Given the description of an element on the screen output the (x, y) to click on. 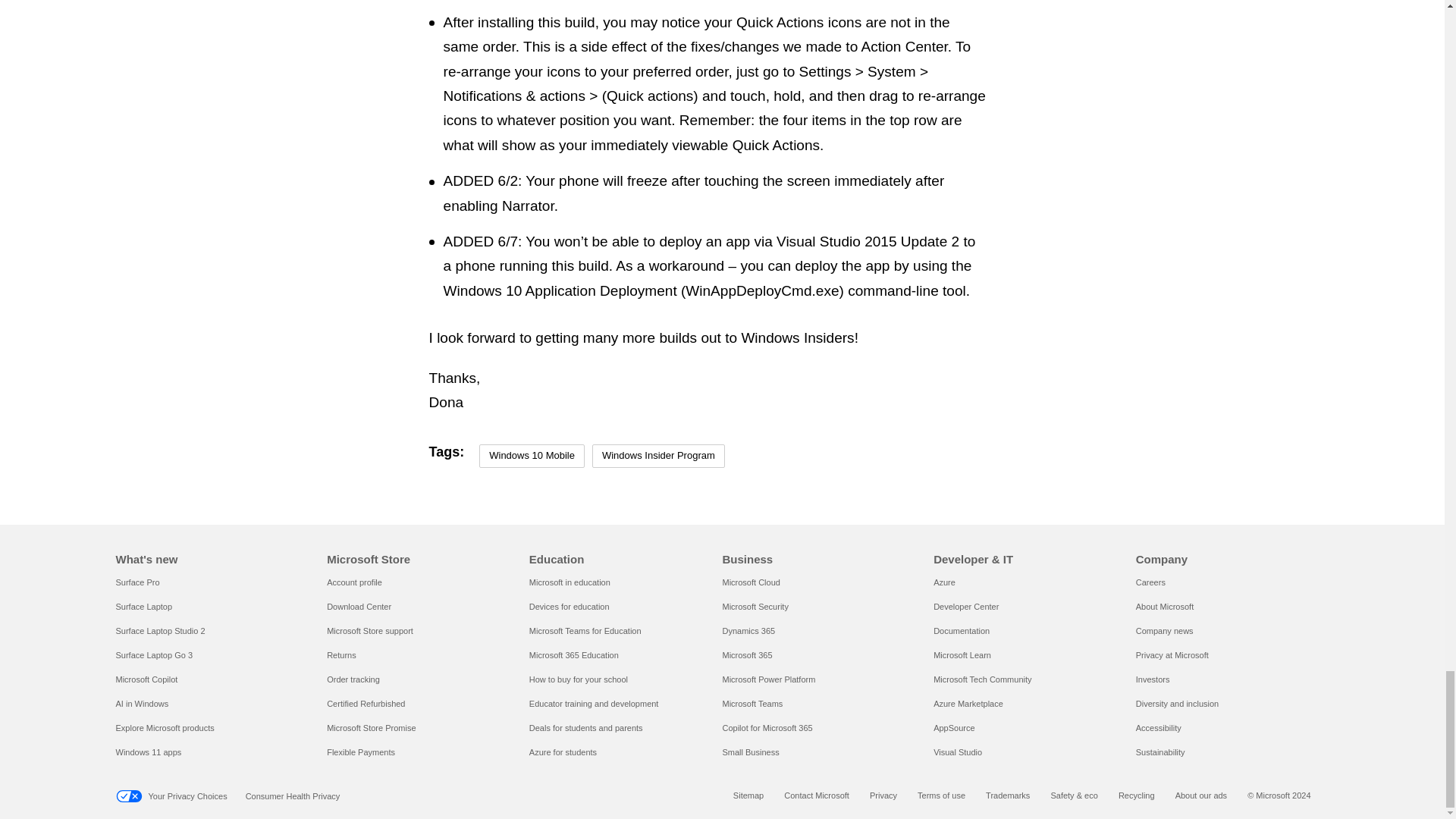
Windows Insider Program Tag (658, 455)
Windows 10 Mobile Tag (532, 455)
